Given the description of an element on the screen output the (x, y) to click on. 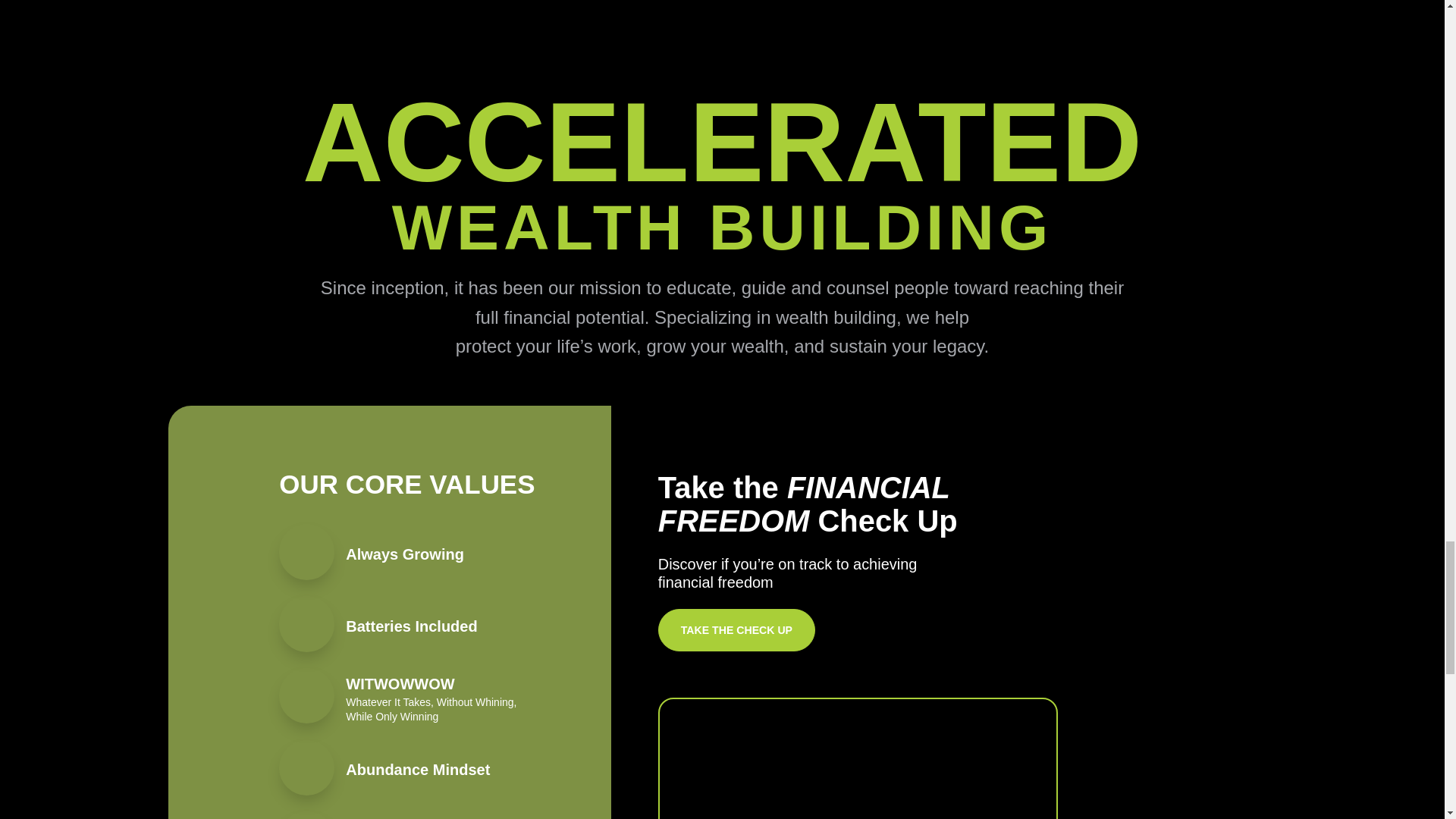
TAKE THE CHECK UP (736, 630)
